Given the description of an element on the screen output the (x, y) to click on. 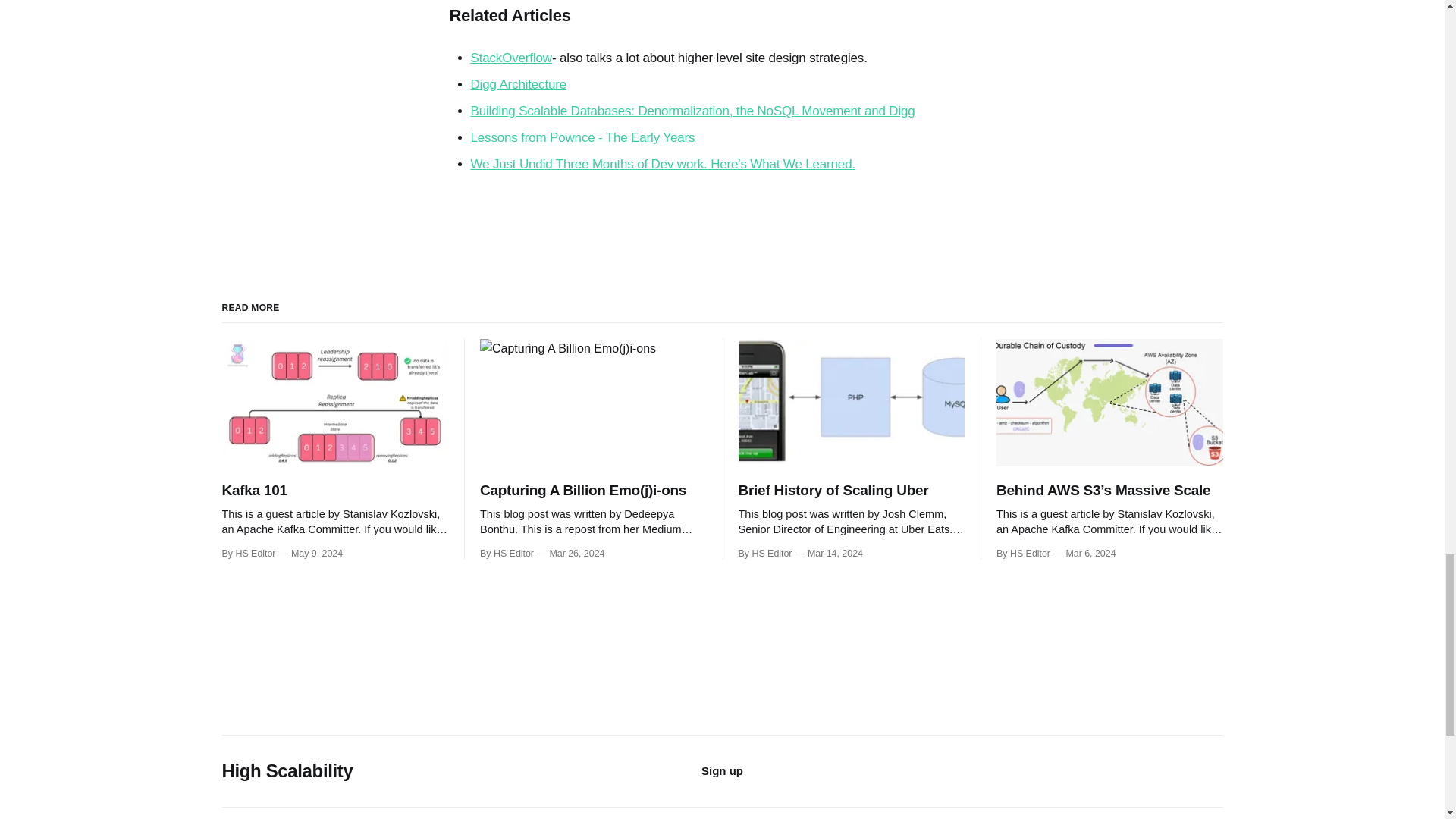
StackOverflow (510, 57)
Sign up (721, 770)
Lessons from Pownce - The Early Years (582, 137)
Digg Architecture (518, 83)
